Given the description of an element on the screen output the (x, y) to click on. 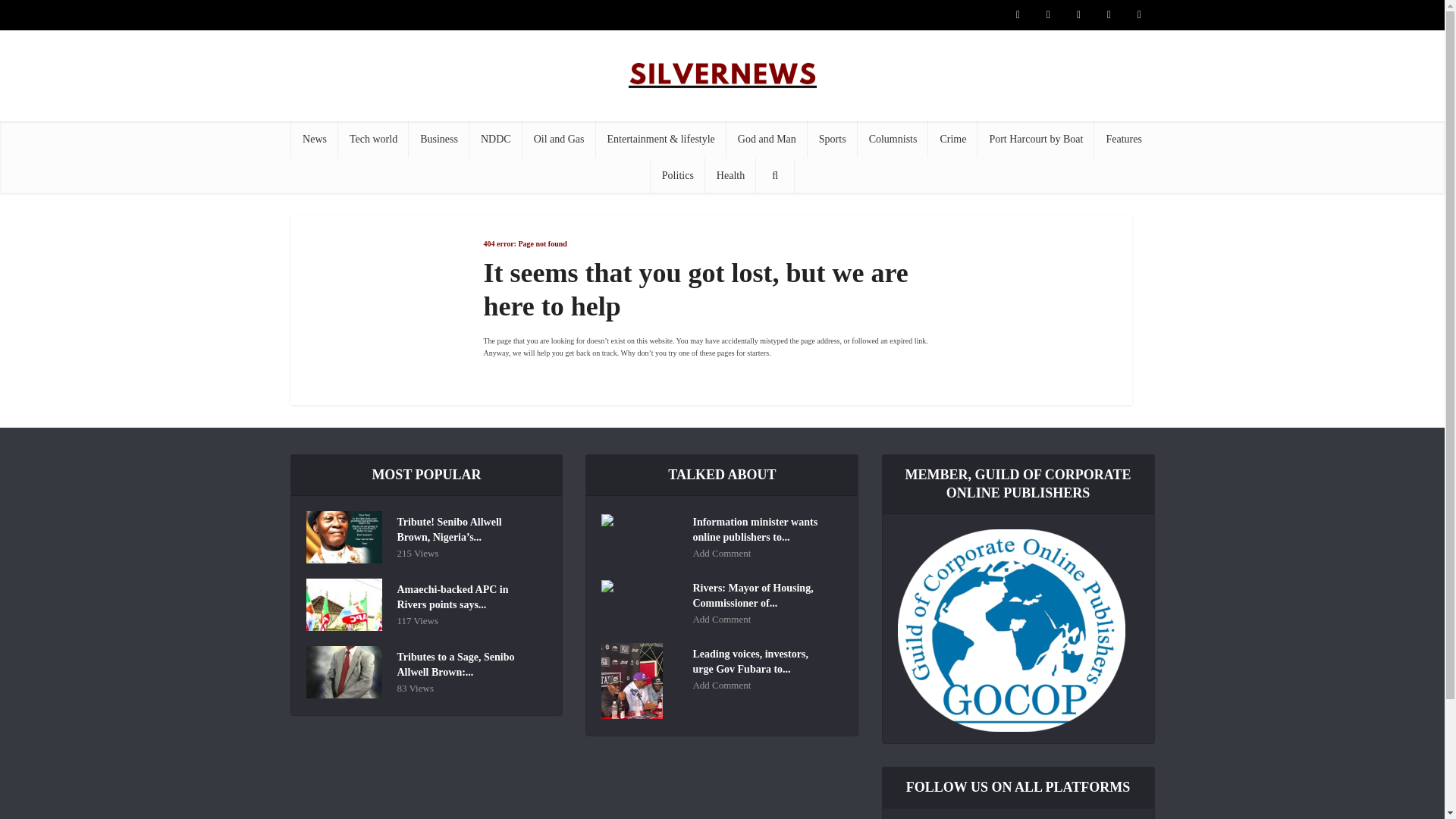
God and Man (767, 139)
Politics (677, 176)
Tech world (373, 139)
Oil and Gas (558, 139)
Business (438, 139)
Sports (832, 139)
NDDC (495, 139)
Features (1123, 139)
Columnists (892, 139)
Health (729, 176)
